Given the description of an element on the screen output the (x, y) to click on. 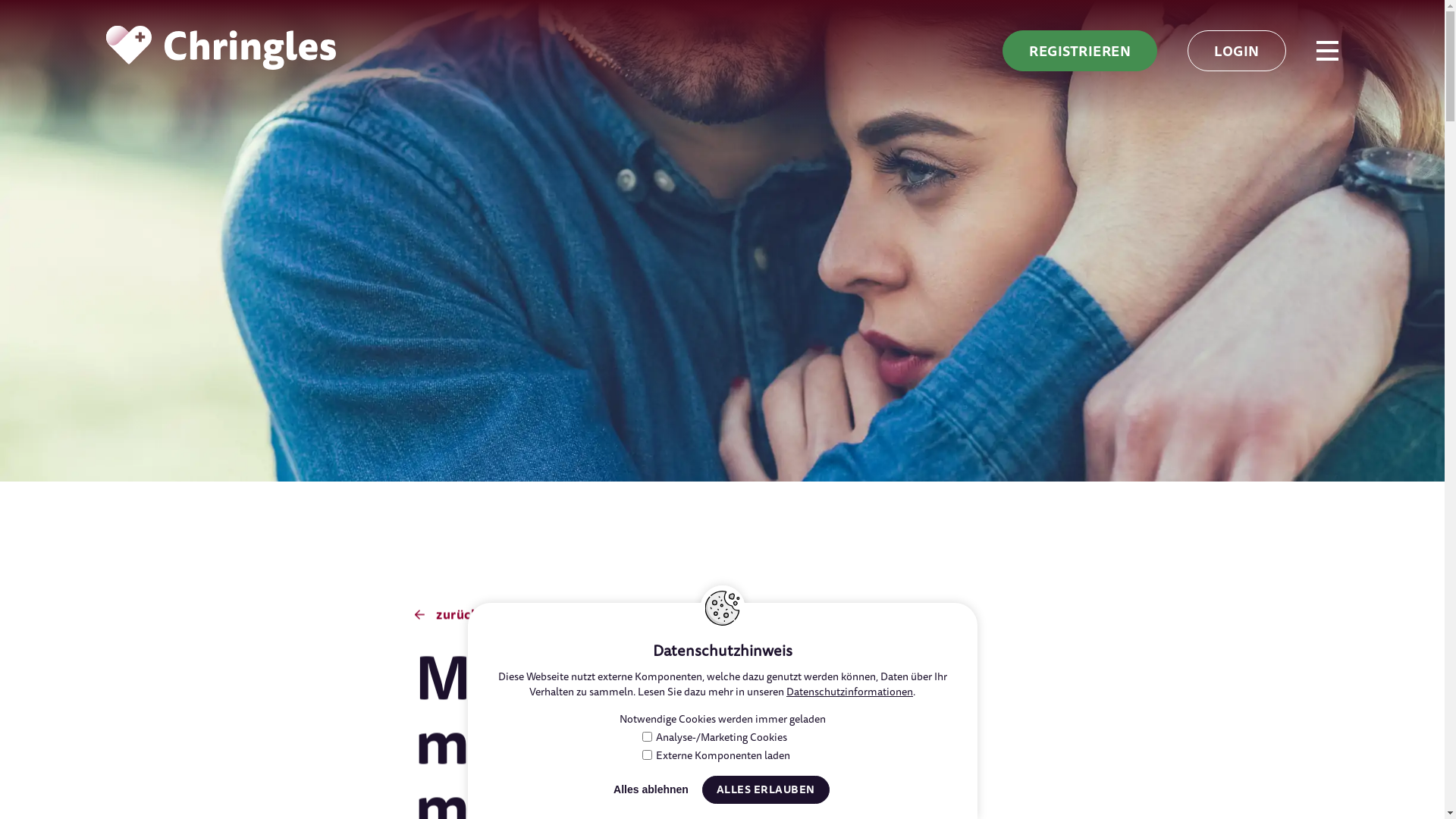
Datenschutzinformationen Element type: text (849, 691)
Alles ablehnen Element type: text (650, 789)
REGISTRIEREN Element type: text (1079, 50)
LOGIN Element type: text (1236, 50)
Zur Startseite Element type: hover (220, 47)
ALLES ERLAUBEN Element type: text (765, 789)
